Given the description of an element on the screen output the (x, y) to click on. 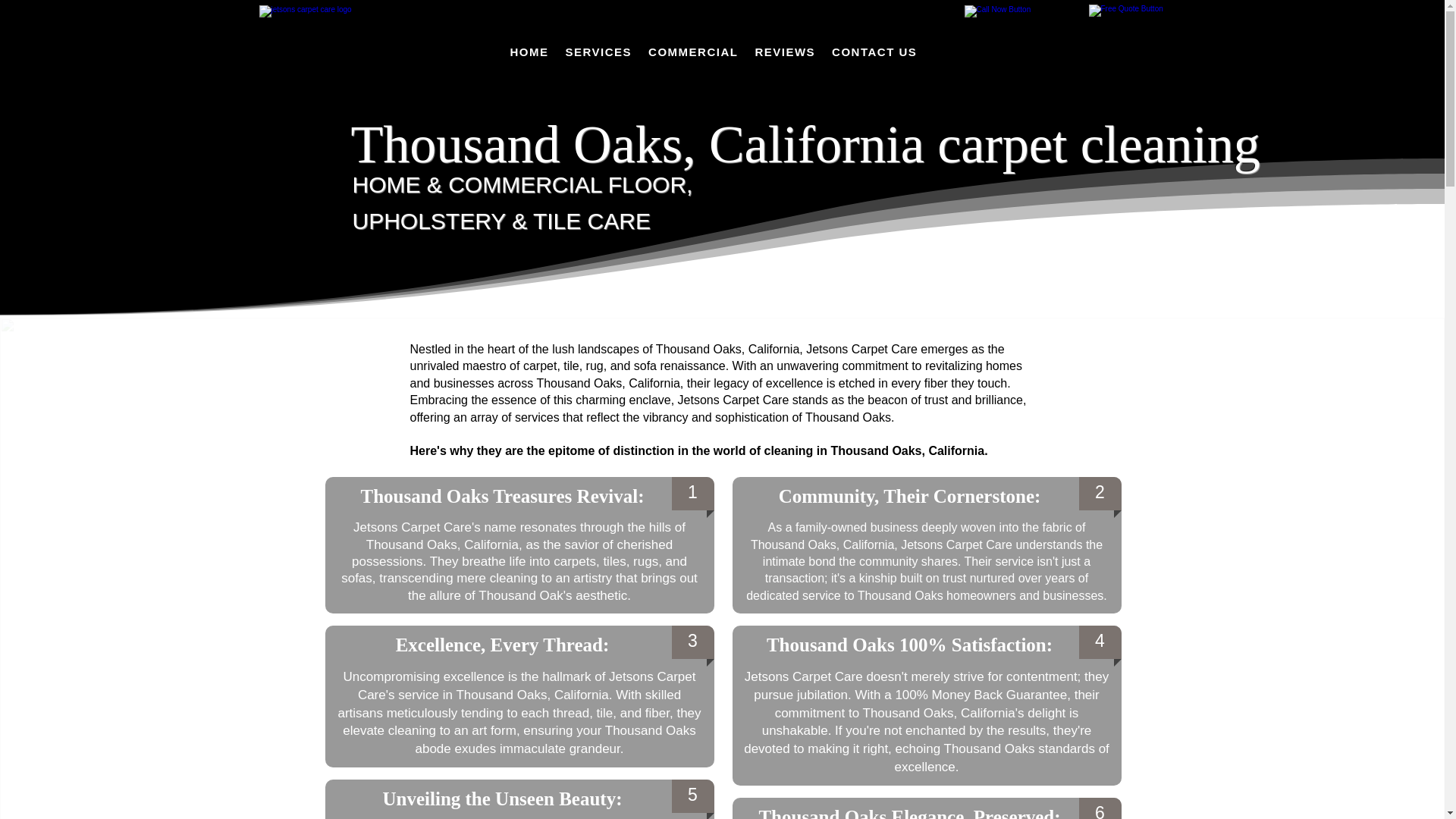
REVIEWS (784, 51)
COMMERCIAL (692, 51)
CONTACT US (874, 51)
SERVICES (598, 51)
HOME (529, 51)
